Given the description of an element on the screen output the (x, y) to click on. 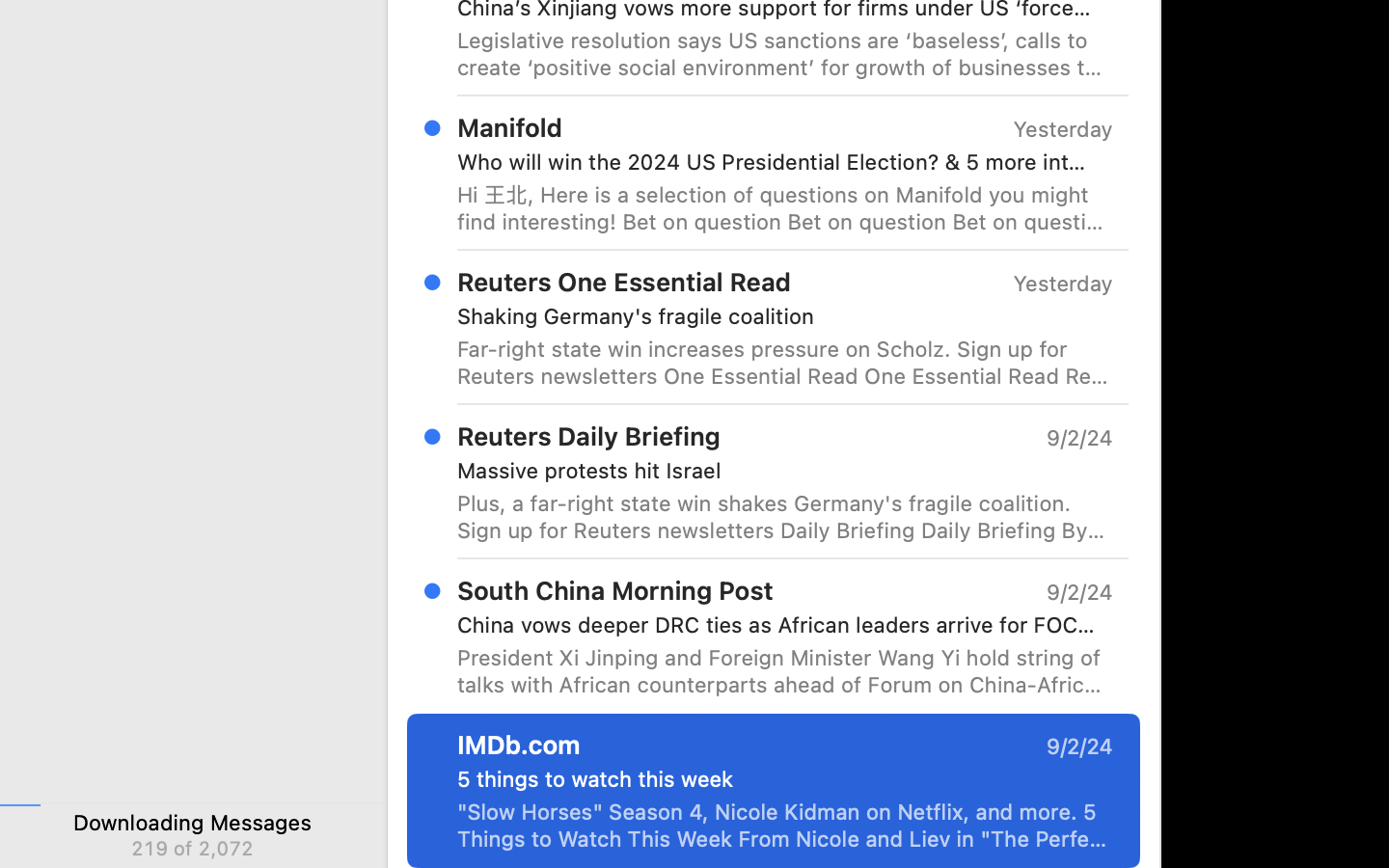
Legislative resolution says US sanctions are ‘baseless’, calls to create ‘positive social environment’ for growth of businesses targeted. - South China Morning Post, SCMP, SCMP Today: Intl Edition - Legislative resolution says US sanctions are ‘baseless’, calls to create ‘positive social environment’ for growth of businesses targeted. Tuesday 3rd September, 2024 China politics & diplomacy ChinaChina’s Xinjiang vows more support for firms under US ‘forced labour’ sanctions3 Sep, 2024 - 04:36 pmLegislative resolution says US sanctions are ‘baseless’, calls to create ‘positive social environment’ for growth of businesses targeted. China11 dead in eastern China, driver detained after bus hits crowd outside school3 Sep, 2024 - 04:43 pm ChinaChinese researchers’ implant genetically modifies brain cells for neuron growth3 Sep, 2024 - 04:06 pm Featured Podcast3. Millennials, GenZ and hire education Video Of The Day China and Singapore embark on bigger joint navy exercise as South China Sea ten Element type: AXStaticText (784, 54)
201 of 2,072 Element type: AXStaticText (192, 847)
IMDb.com Element type: AXStaticText (518, 744)
Shaking Germany's fragile coalition Element type: AXStaticText (777, 315)
Manifold Element type: AXStaticText (510, 126)
